Given the description of an element on the screen output the (x, y) to click on. 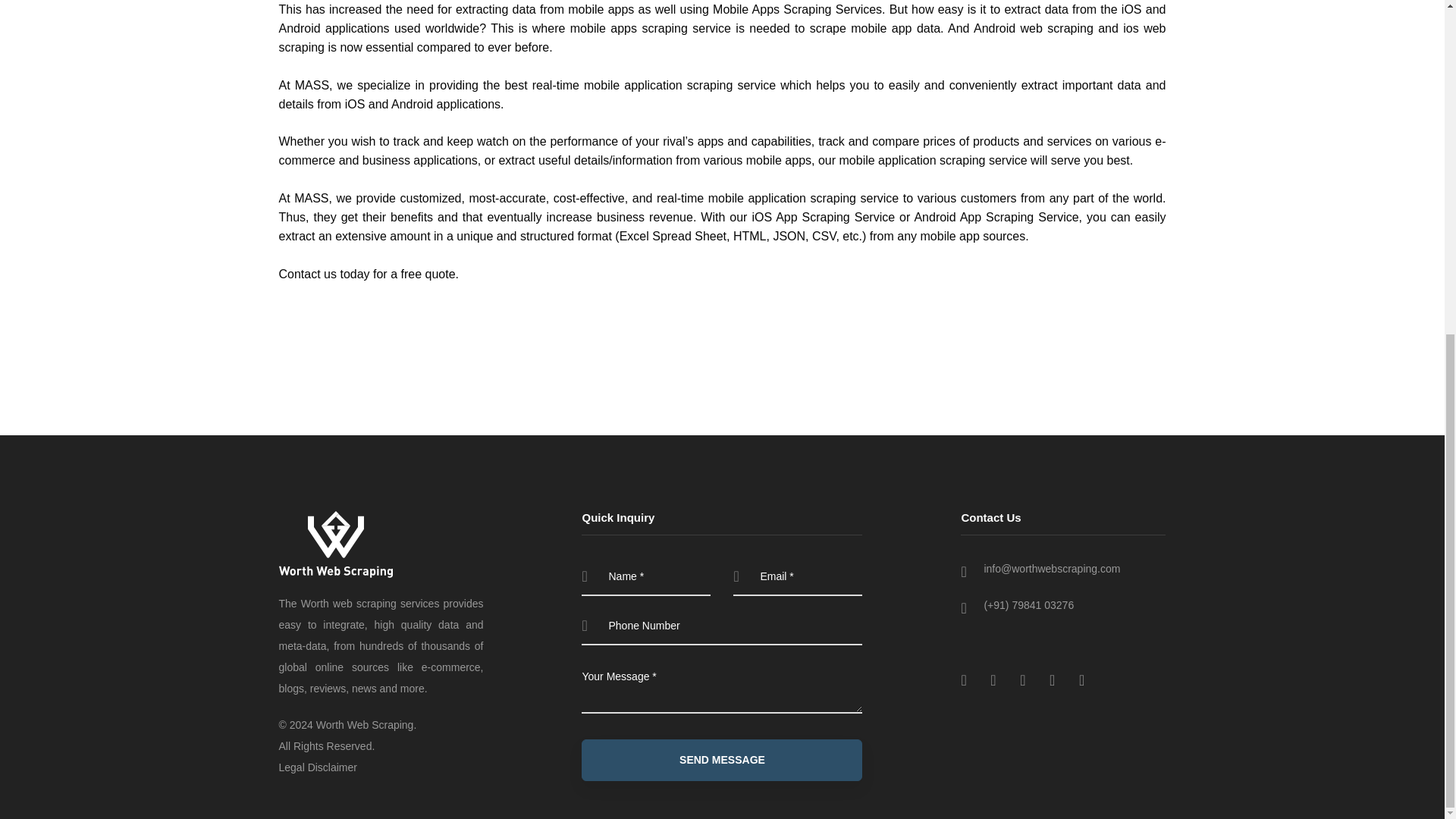
Send Message (720, 760)
Send Message (720, 760)
Legal Disclaimer (317, 767)
